Given the description of an element on the screen output the (x, y) to click on. 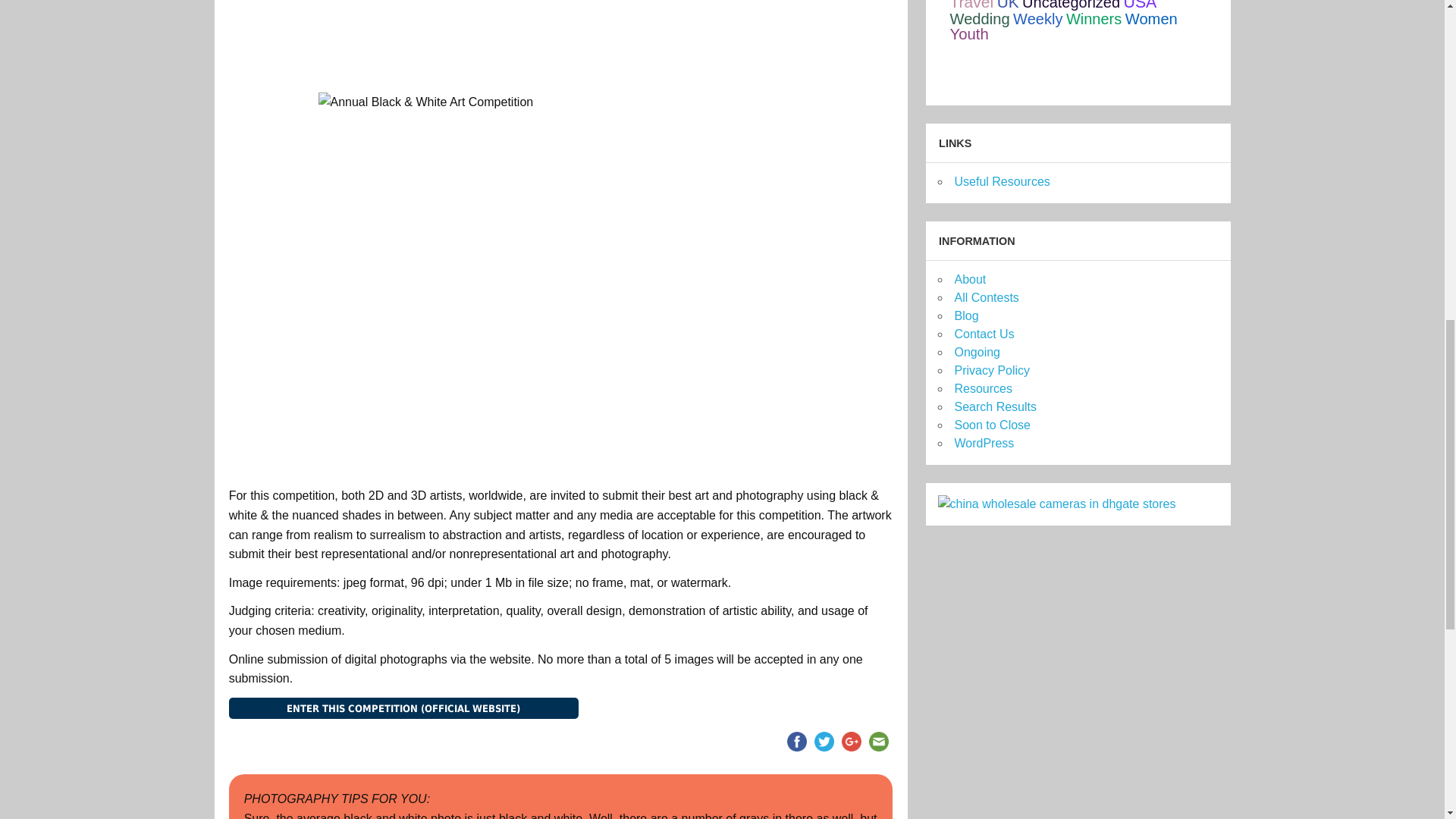
Twitter (824, 741)
Facebook (796, 741)
Email (878, 741)
OFFICIAL WEBSITE (403, 708)
